Given the description of an element on the screen output the (x, y) to click on. 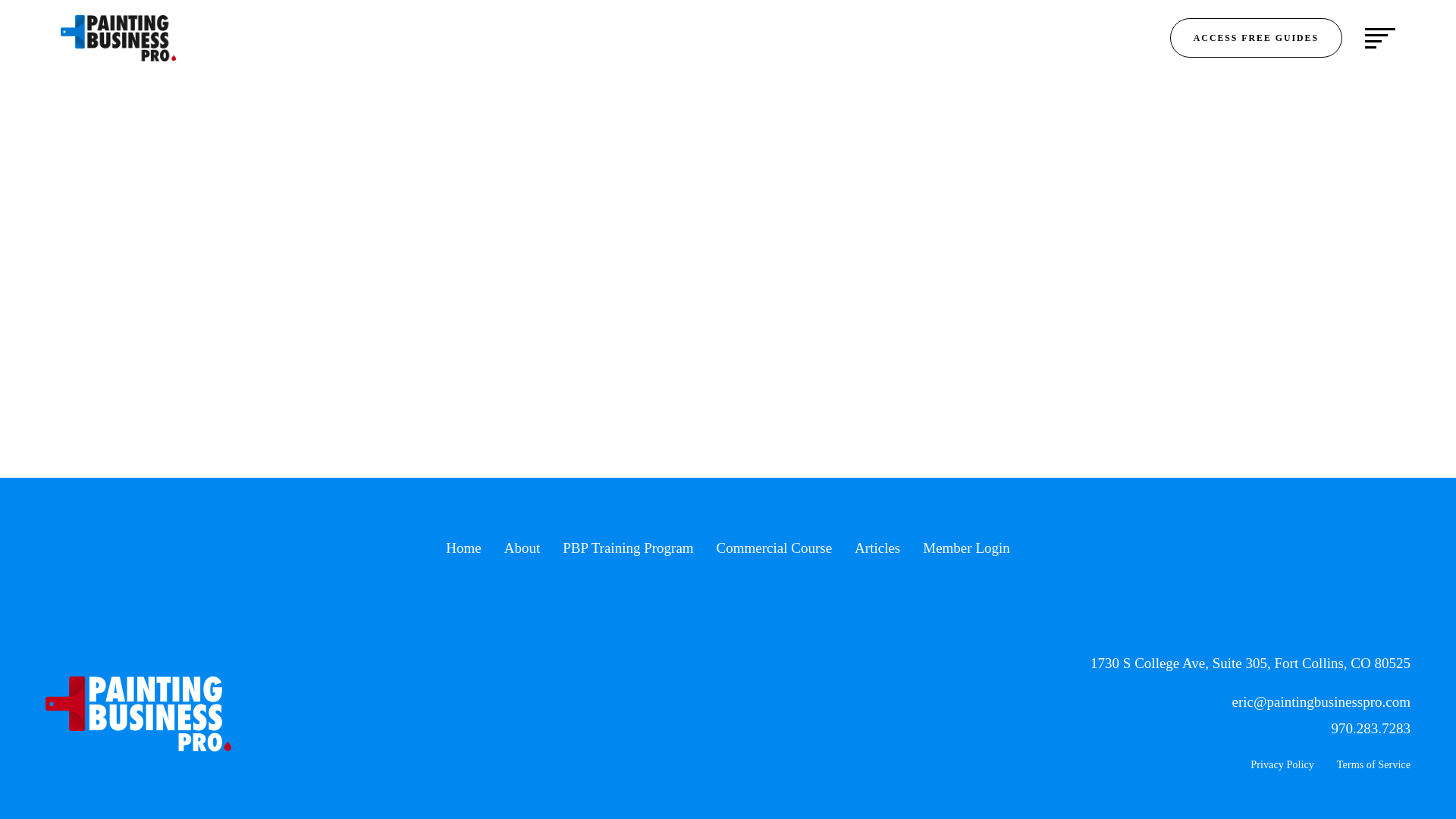
Privacy Policy (1282, 765)
970.283.7283 (1371, 729)
Commercial Course (774, 548)
Member Login (966, 548)
About (521, 548)
Articles (876, 548)
PBP Training Program (627, 548)
Terms of Service (1373, 765)
ACCESS FREE GUIDES (1256, 37)
Home (462, 548)
